Given the description of an element on the screen output the (x, y) to click on. 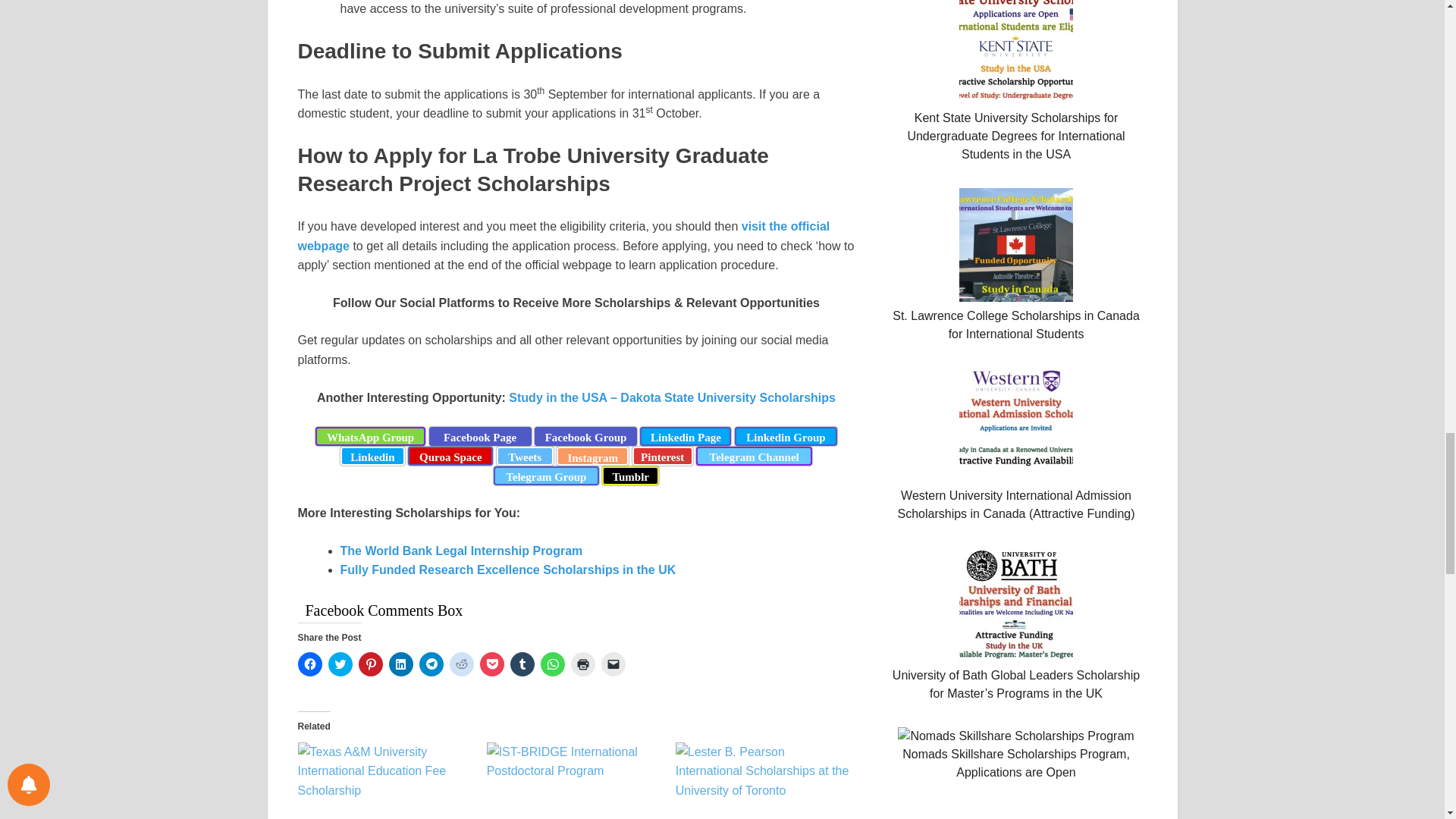
visit the official webpage (563, 236)
WhatsApp Group (370, 435)
Linkedin Community (786, 435)
Join Our Linekdin Page (685, 435)
Join Our Community on Linkedin (372, 456)
